Given the description of an element on the screen output the (x, y) to click on. 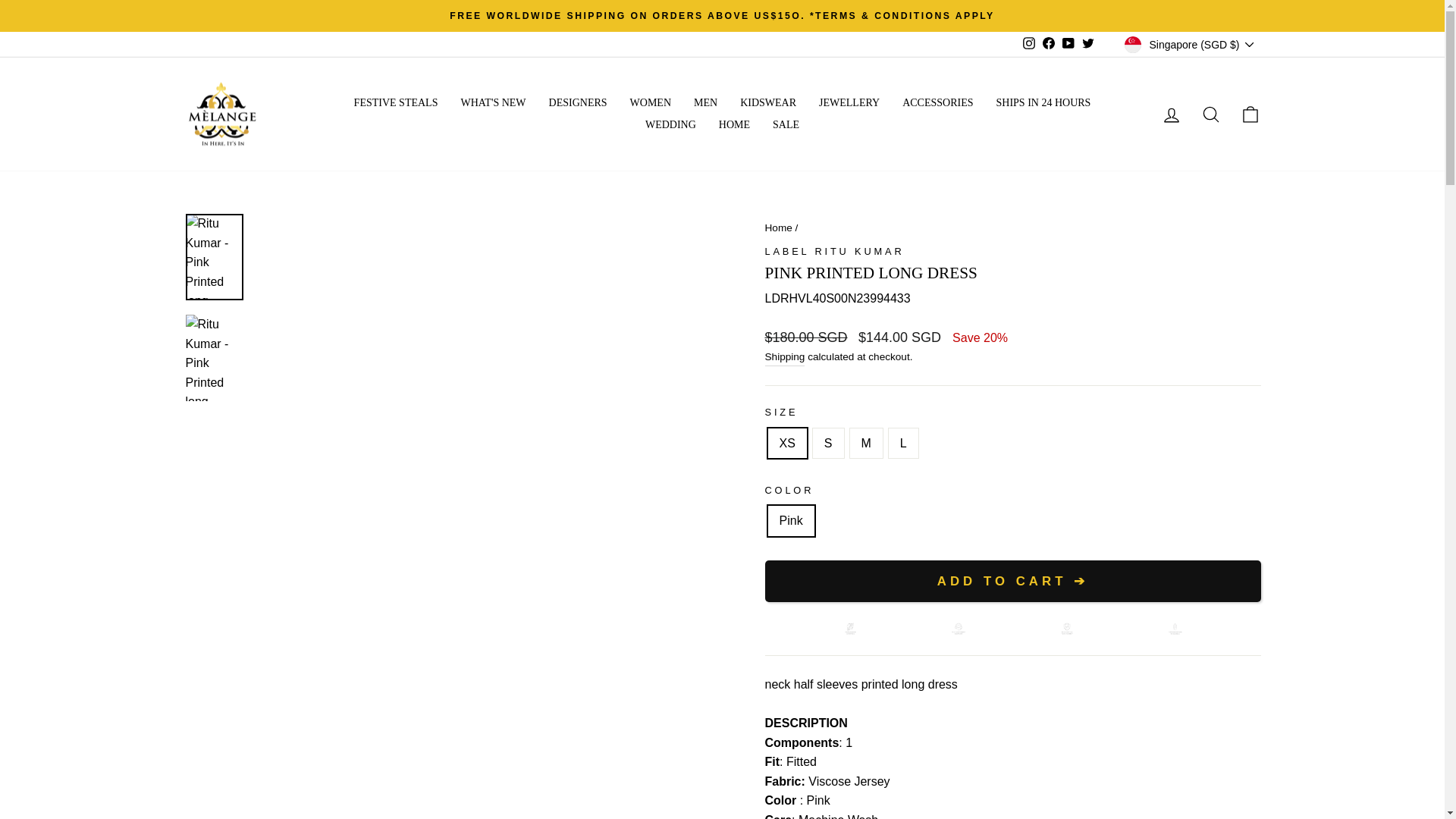
Back to the frontpage (778, 227)
